Given the description of an element on the screen output the (x, y) to click on. 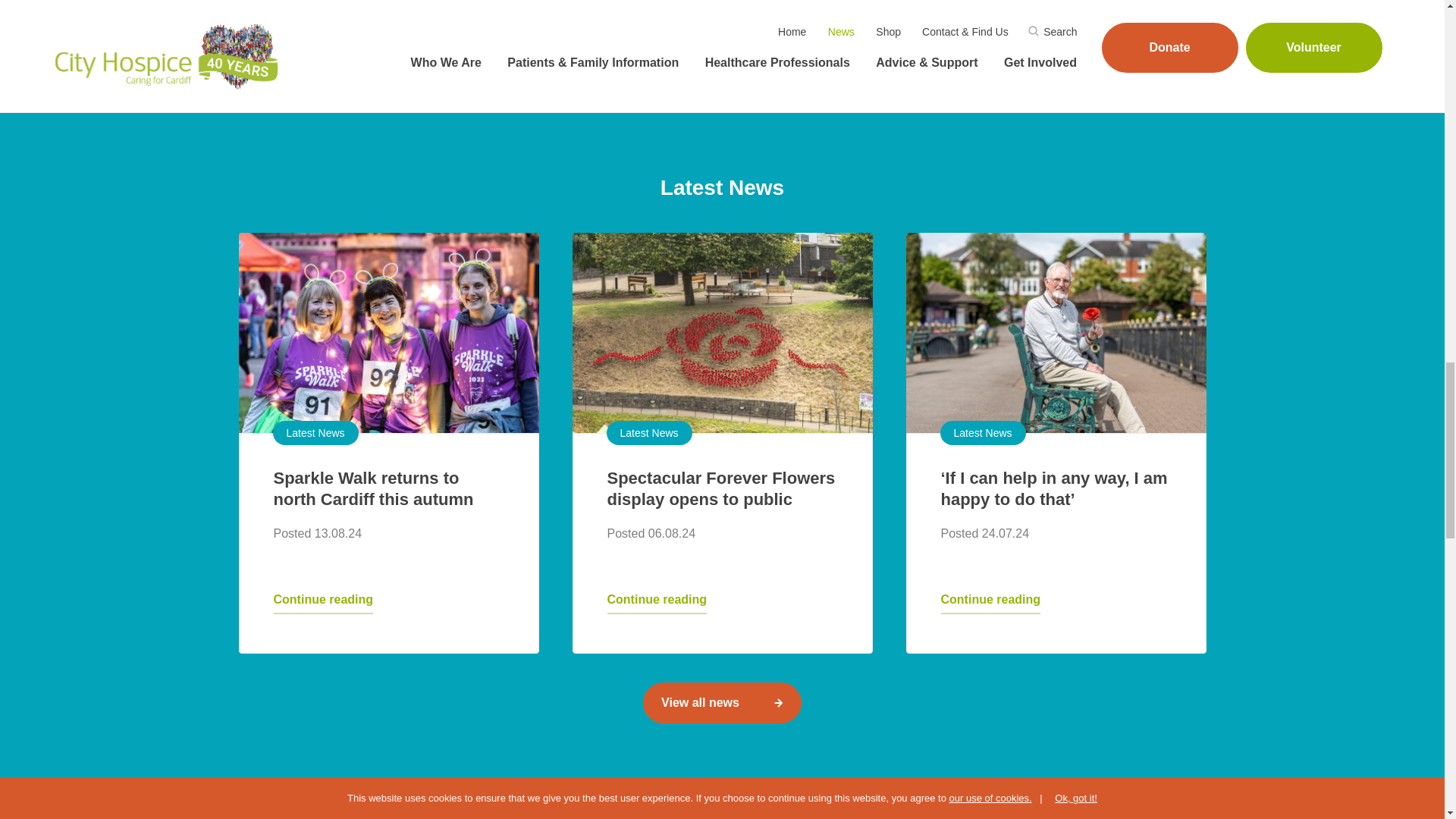
Continue reading (322, 601)
Continue reading (656, 601)
Spectacular Forever Flowers display opens to public (720, 488)
Spectacular Forever Flowers display opens to public (722, 332)
Sparkle Walk returns to north Cardiff this autumn (373, 488)
Sparkle Walk returns to north Cardiff this autumn (388, 332)
Continue reading (990, 601)
